Given the description of an element on the screen output the (x, y) to click on. 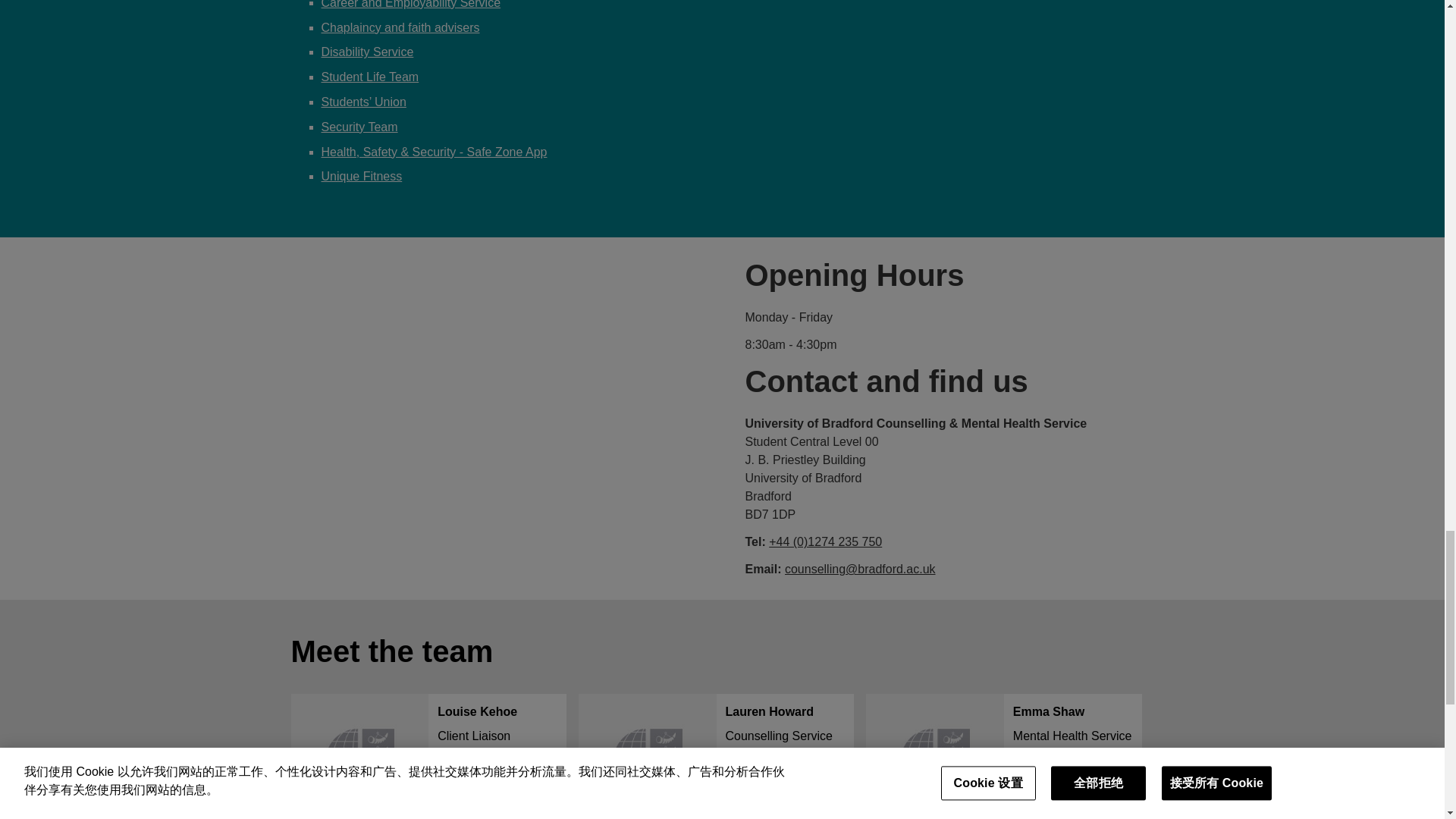
Unique Fitness (362, 175)
Chaplaincy and faith advisers (400, 27)
Security Team (359, 126)
Career and Employability Service (410, 4)
Disability Service (428, 756)
Student Life Team (367, 51)
